Given the description of an element on the screen output the (x, y) to click on. 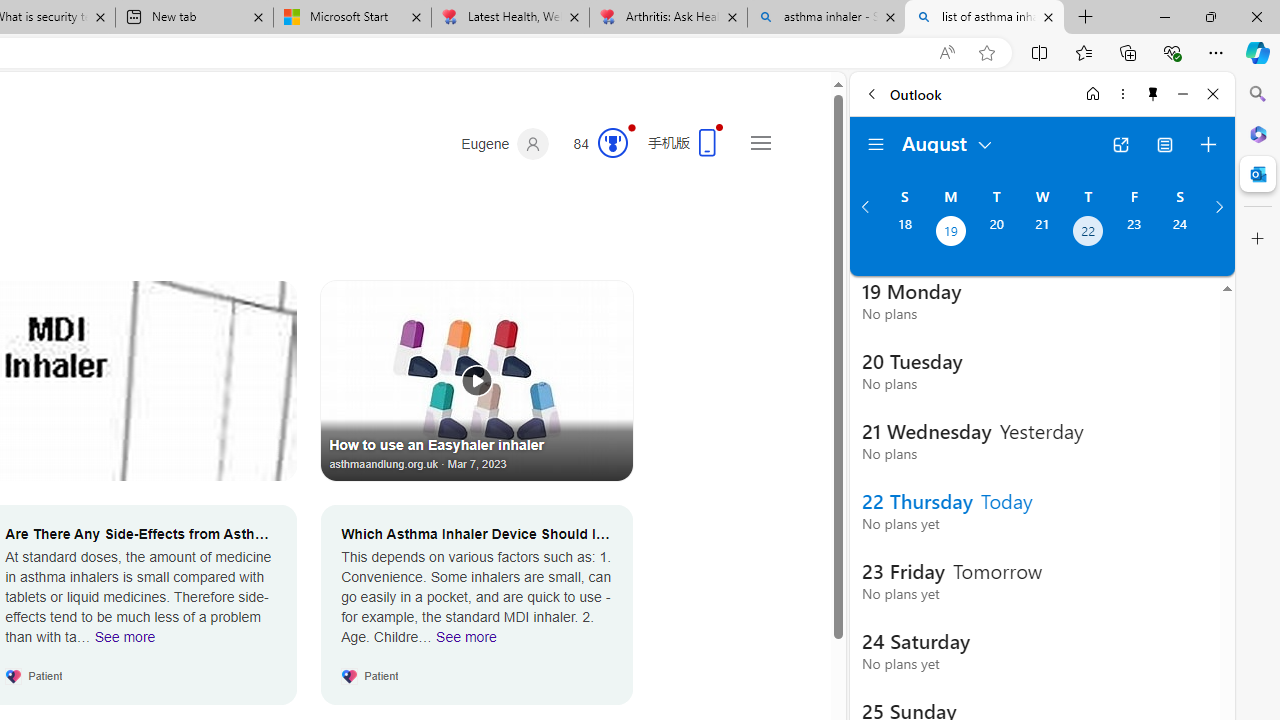
Wednesday, August 21, 2024.  (1042, 233)
Sunday, August 18, 2024.  (904, 233)
Friday, August 23, 2024.  (1134, 233)
